Given the description of an element on the screen output the (x, y) to click on. 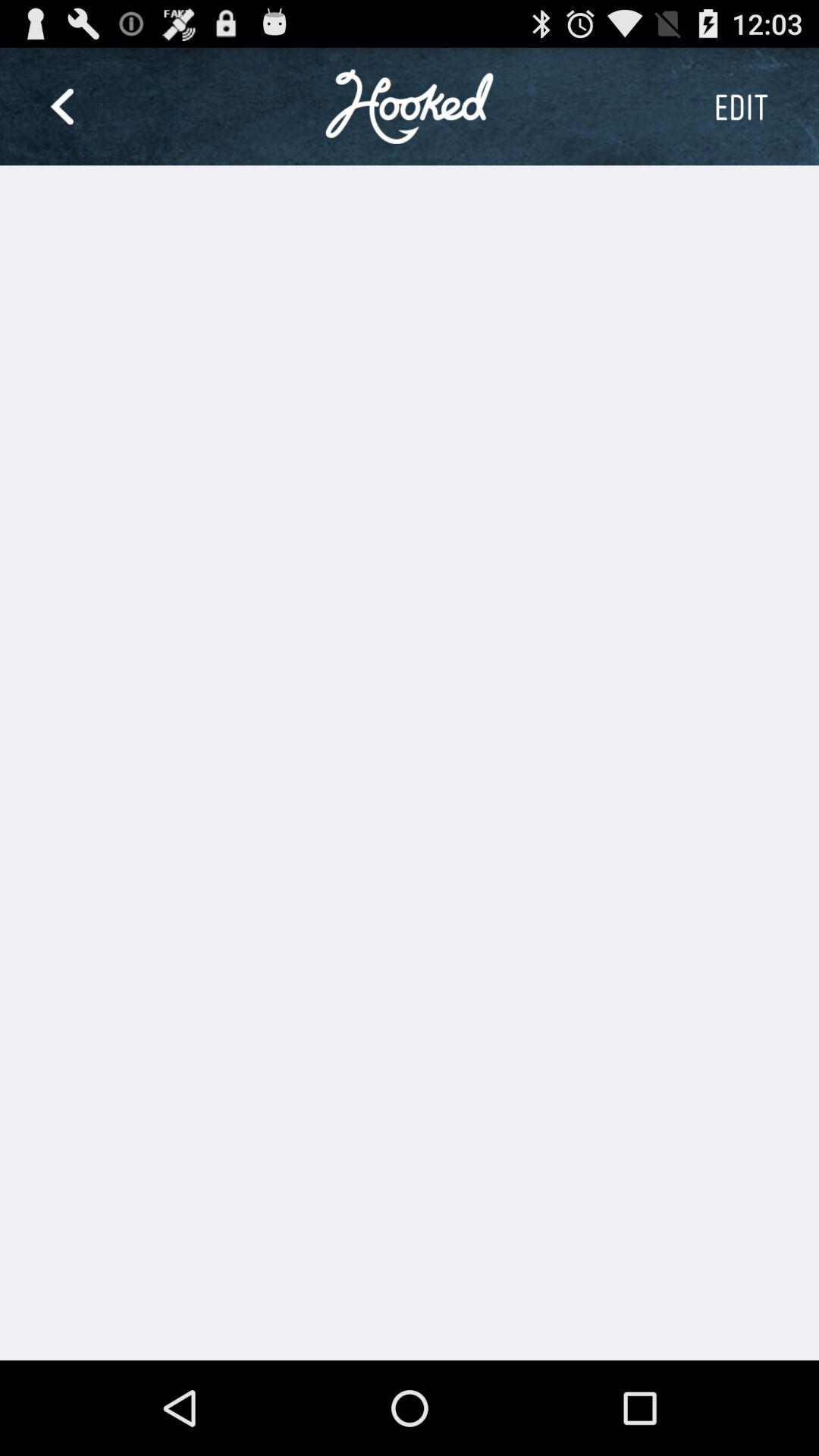
flip until edit button (740, 106)
